Given the description of an element on the screen output the (x, y) to click on. 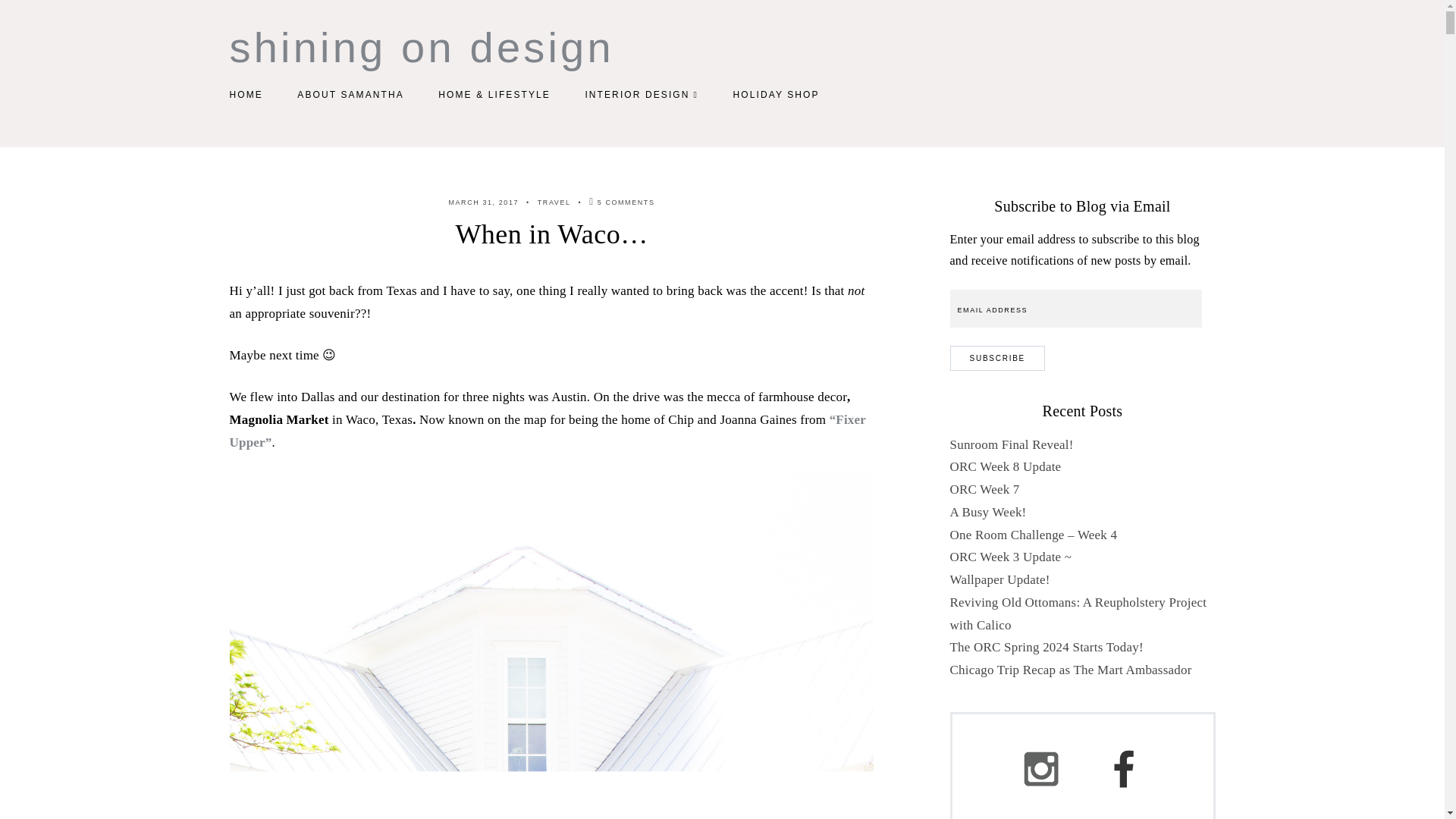
View all posts in Travel (553, 202)
Wallpaper Update! (999, 579)
INTERIOR DESIGN (641, 94)
shining on design (420, 47)
HOME (245, 94)
HOLIDAY SHOP (775, 94)
Chicago Trip Recap as The Mart Ambassador (1070, 669)
Reviving Old Ottomans: A Reupholstery Project with Calico (1078, 613)
ORC Week 8 Update (1005, 466)
TRAVEL (553, 202)
